Given the description of an element on the screen output the (x, y) to click on. 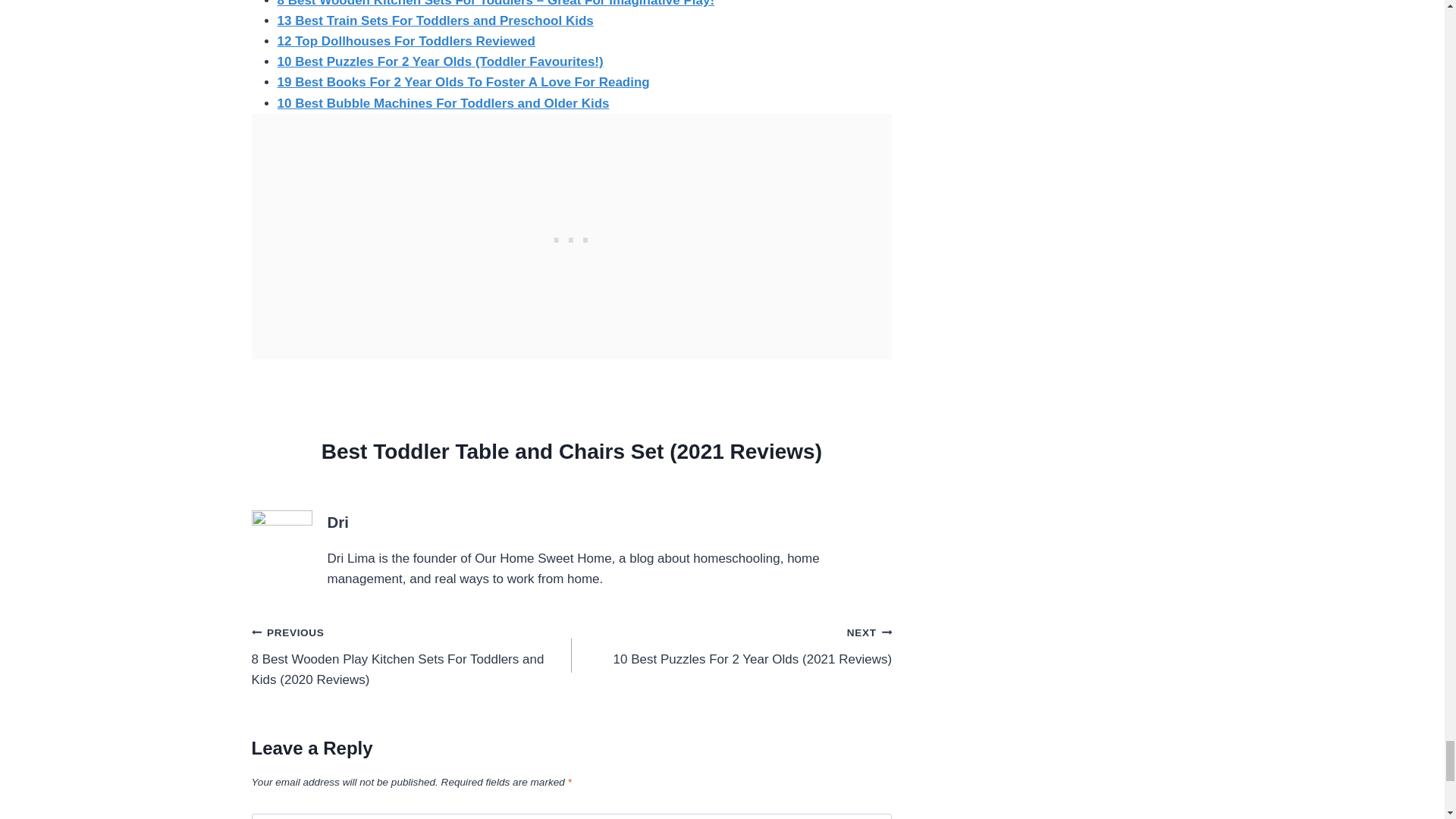
Posts by Dri (338, 522)
